Given the description of an element on the screen output the (x, y) to click on. 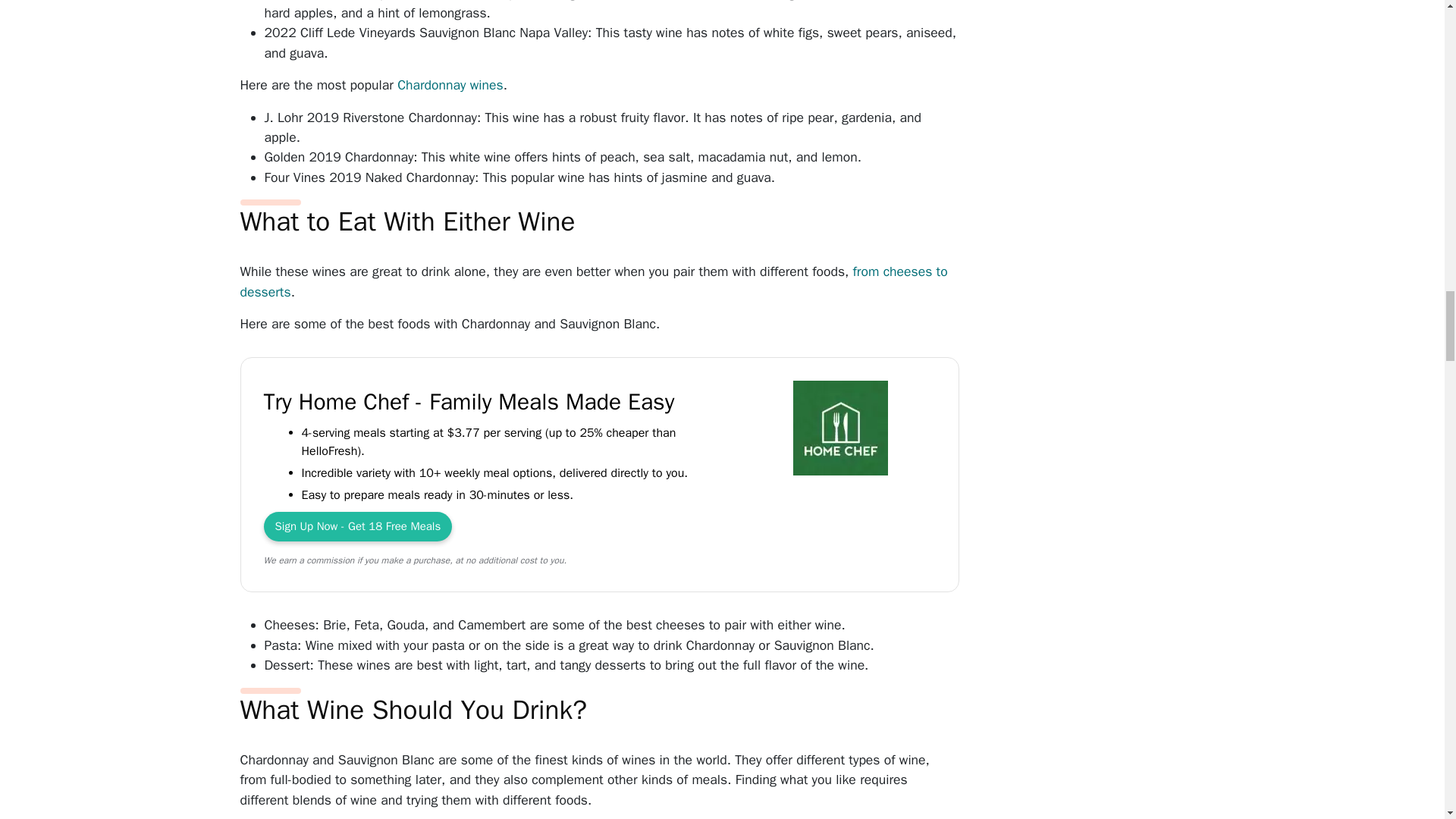
Try Home Chef - Family Meals Made Easy (357, 526)
Try Home Chef - Family Meals Made Easy (840, 430)
Try Home Chef - Family Meals Made Easy (492, 402)
